Given the description of an element on the screen output the (x, y) to click on. 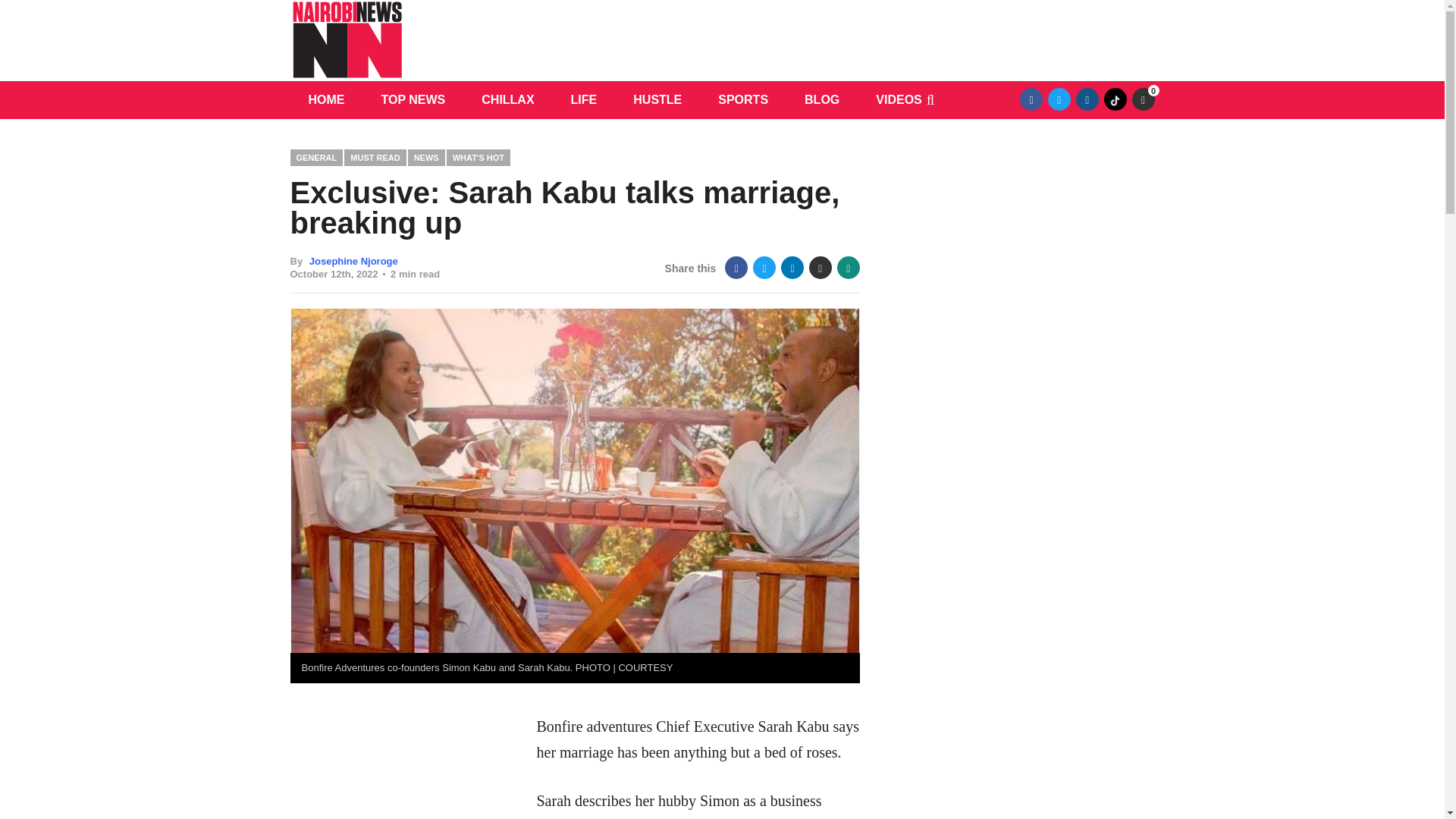
Facebook (736, 267)
WHAT'S HOT (477, 157)
NEWS (426, 157)
Updates made in the last 20 minutes (1142, 98)
HUSTLE (657, 99)
Facebook (1031, 98)
MUST READ (374, 157)
WhatsApp (848, 267)
Josephine Njoroge (352, 260)
LinkedIn (791, 267)
